Given the description of an element on the screen output the (x, y) to click on. 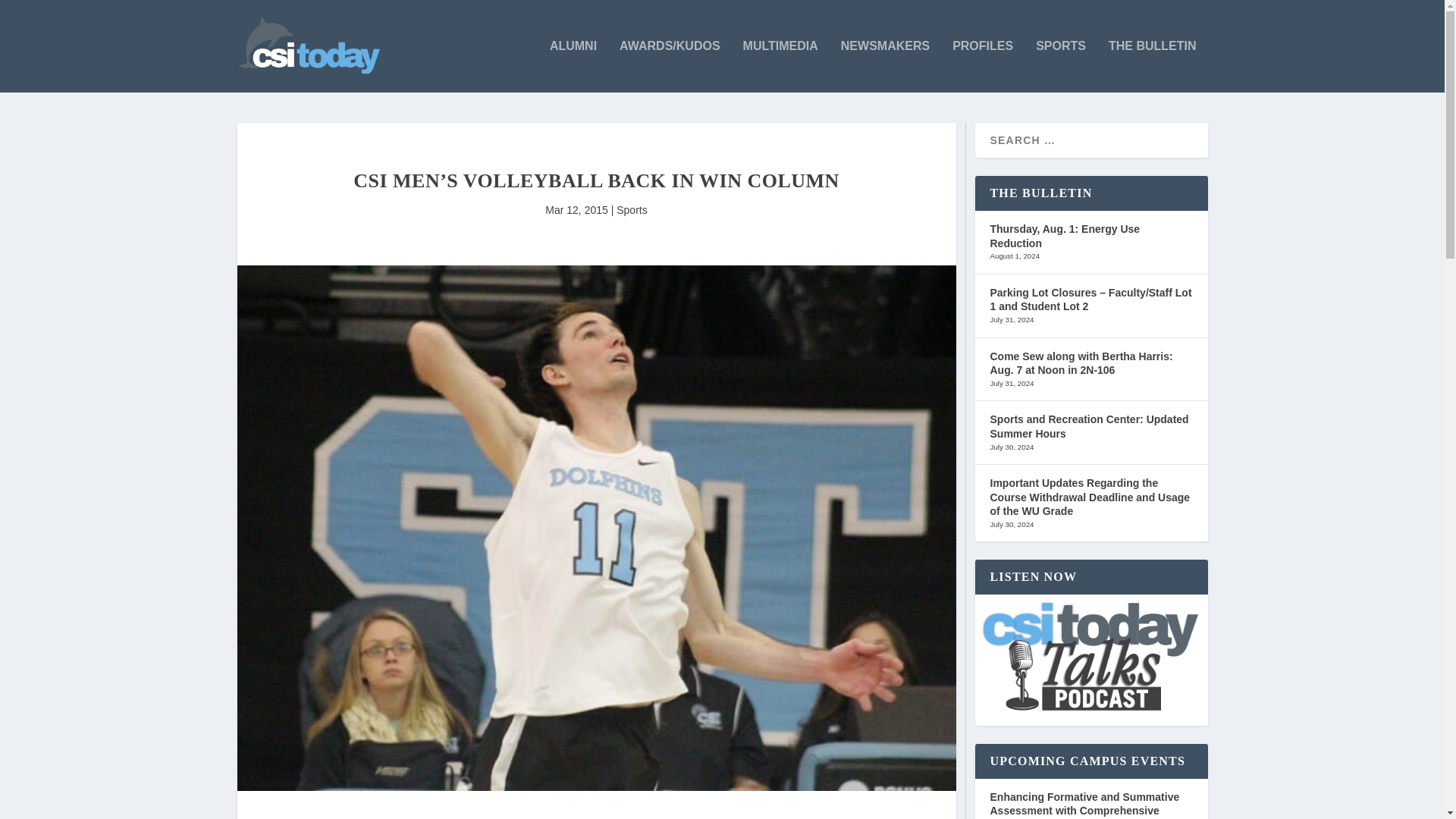
SPORTS (1060, 66)
ALUMNI (573, 66)
THE BULLETIN (1152, 66)
PROFILES (982, 66)
MULTIMEDIA (780, 66)
NEWSMAKERS (885, 66)
